Given the description of an element on the screen output the (x, y) to click on. 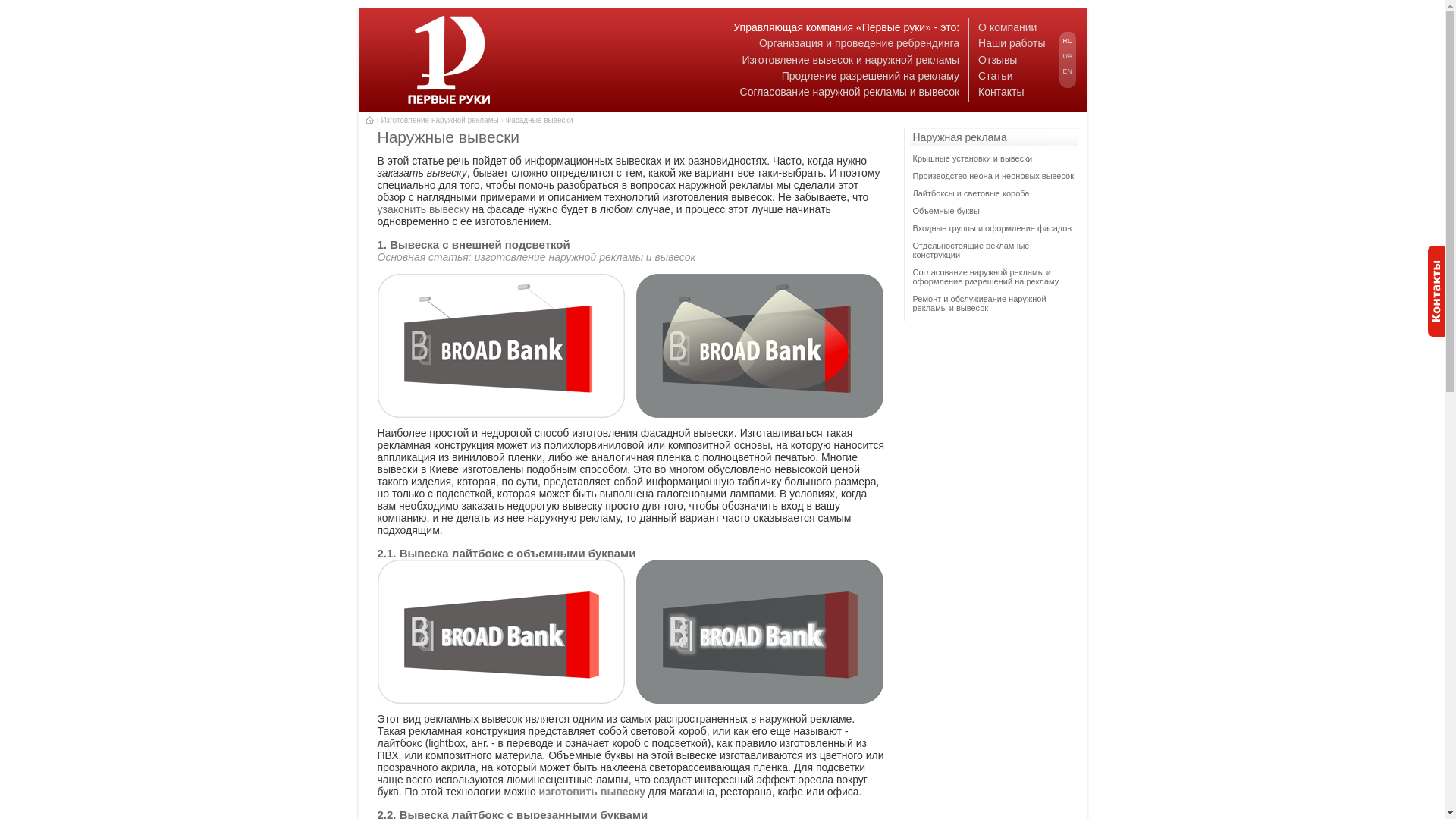
UA Element type: text (1068, 55)
EN Element type: text (1068, 71)
RU Element type: text (1068, 40)
